Given the description of an element on the screen output the (x, y) to click on. 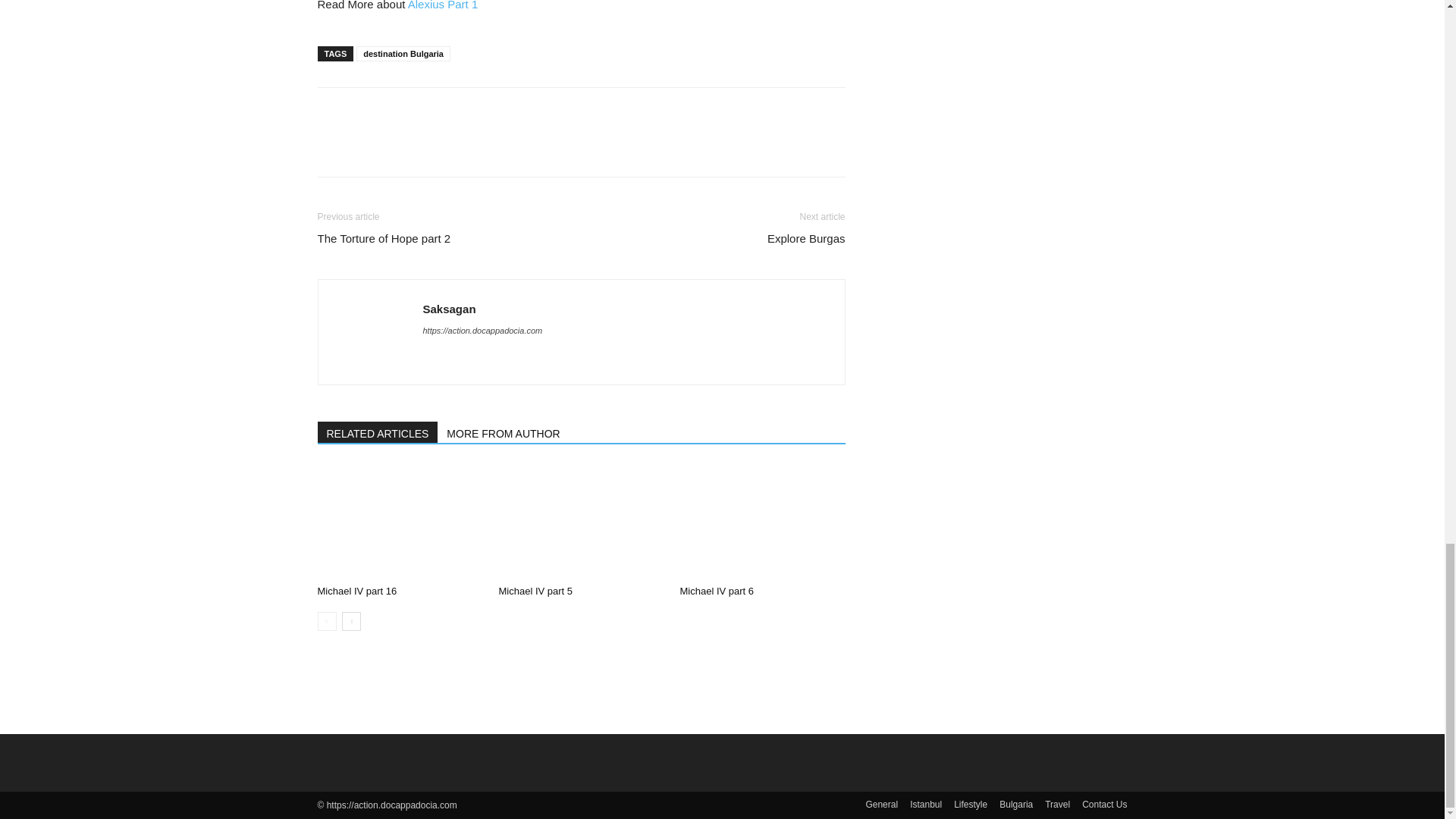
Alexius Part 1 (443, 5)
bottomFacebookLike (430, 111)
